Given the description of an element on the screen output the (x, y) to click on. 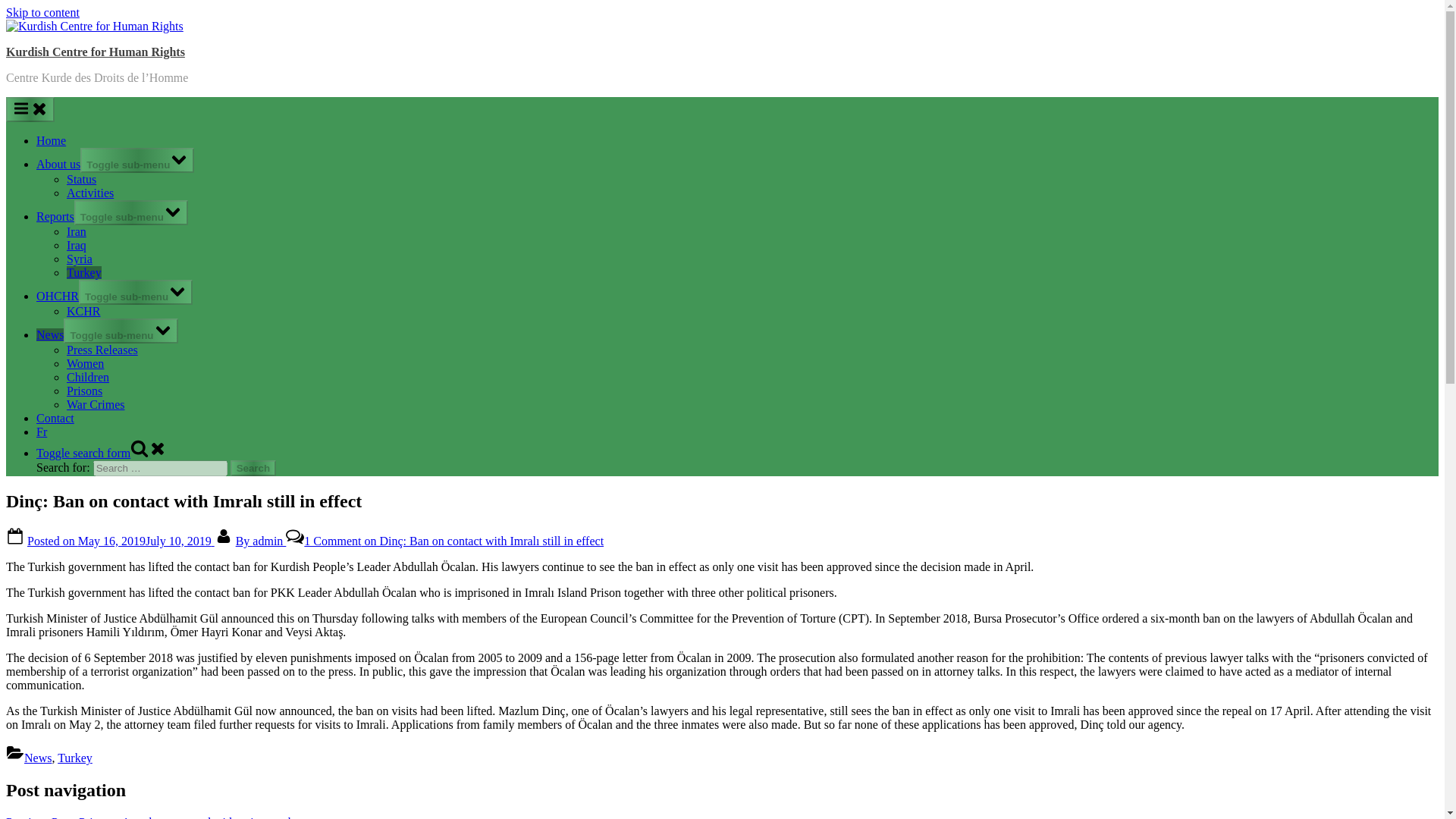
Toggle sub-menu (135, 292)
Turkey (75, 757)
War Crimes (94, 404)
Syria (79, 258)
News (37, 757)
Press Releases (102, 349)
KCHR (83, 310)
Prisons (83, 390)
Iraq (75, 245)
Contact (55, 418)
